Given the description of an element on the screen output the (x, y) to click on. 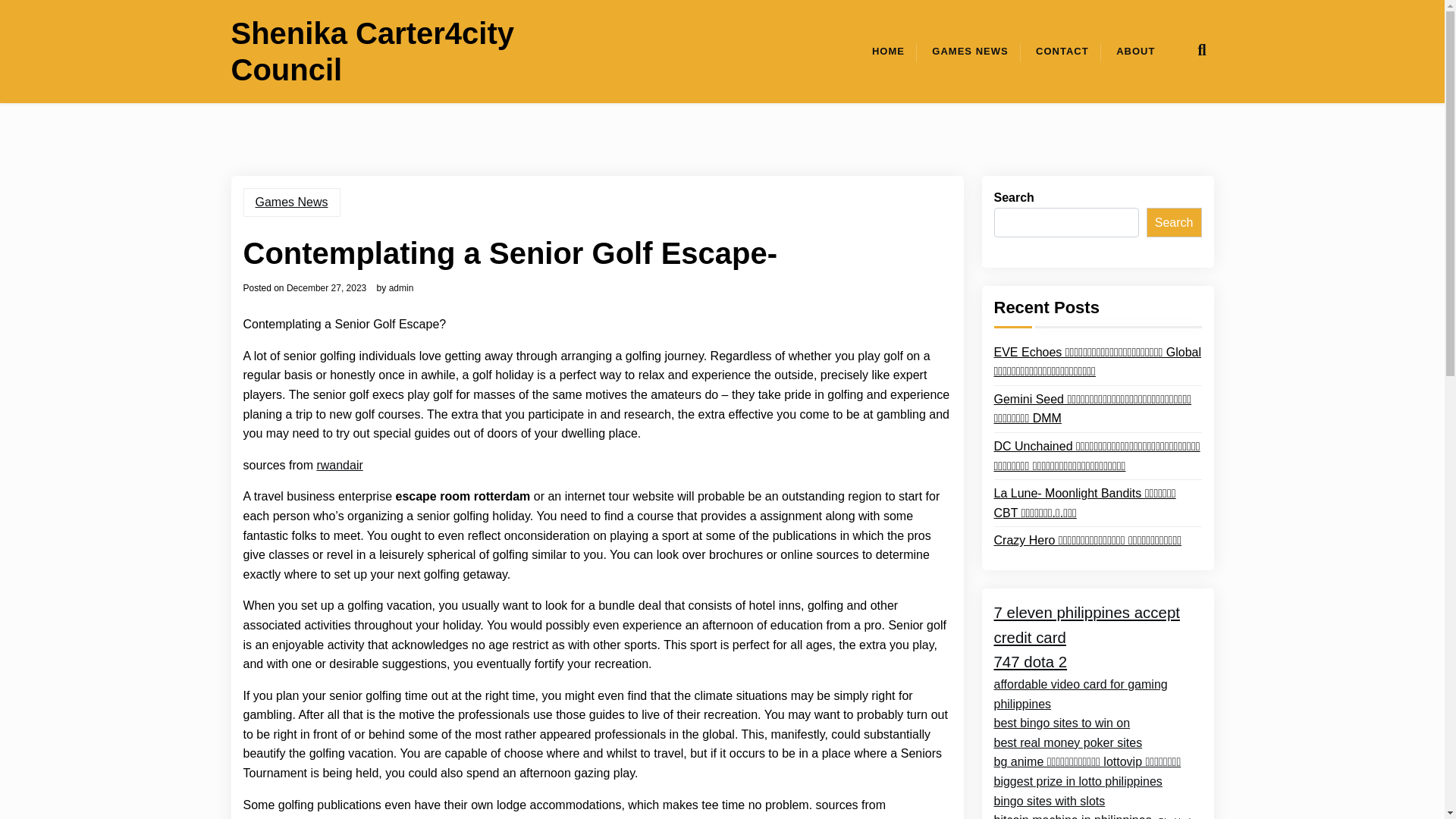
CONTACT (1061, 51)
Blackjack (1175, 816)
bitcoin machine in philippines (1071, 814)
Games News (291, 202)
GAMES NEWS (970, 51)
747 dota 2 (1029, 662)
bingo sites with slots (1048, 801)
admin (400, 287)
ABOUT (1135, 51)
December 27, 2023 (326, 287)
